Given the description of an element on the screen output the (x, y) to click on. 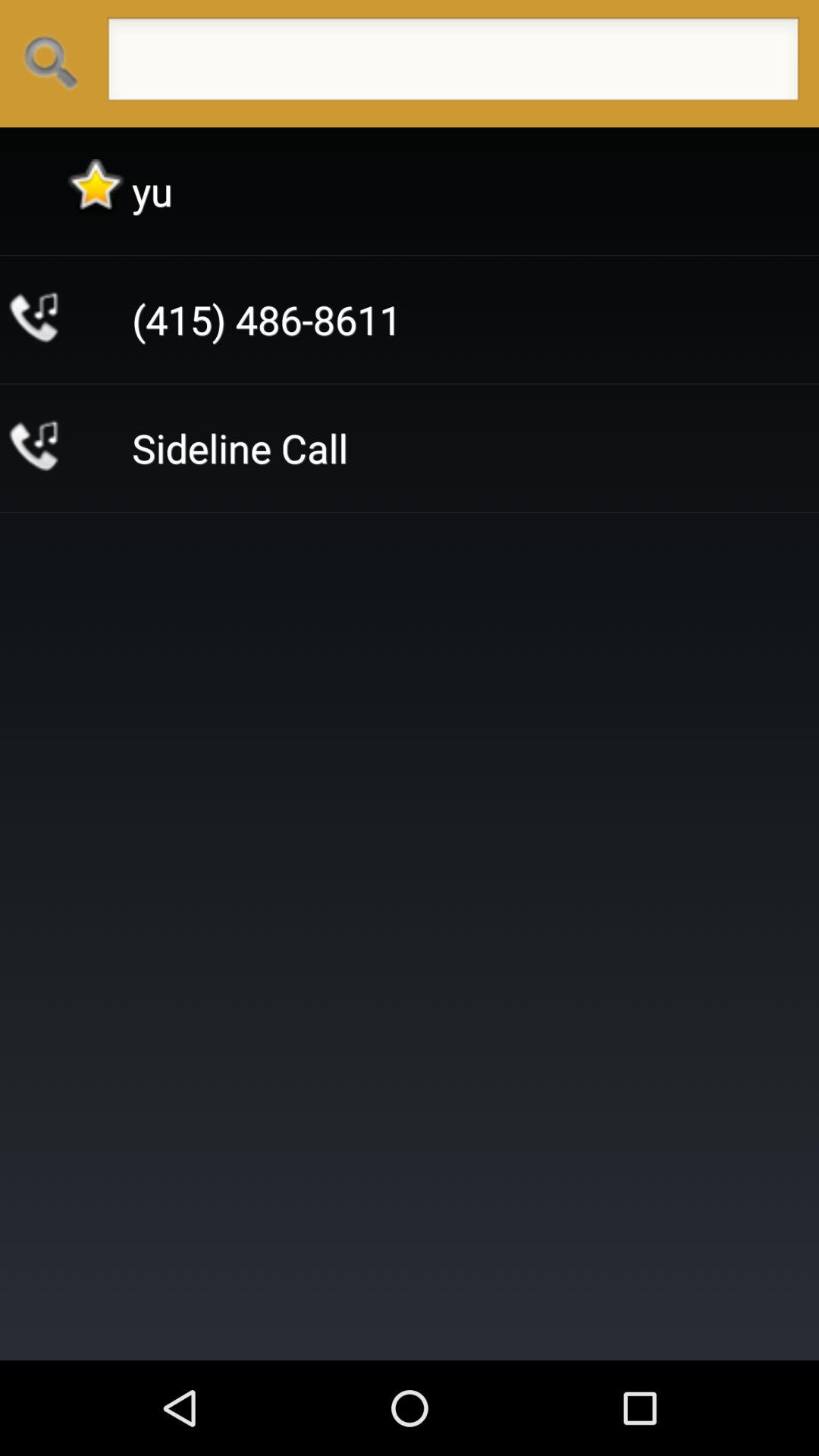
flip to the yu (151, 190)
